Given the description of an element on the screen output the (x, y) to click on. 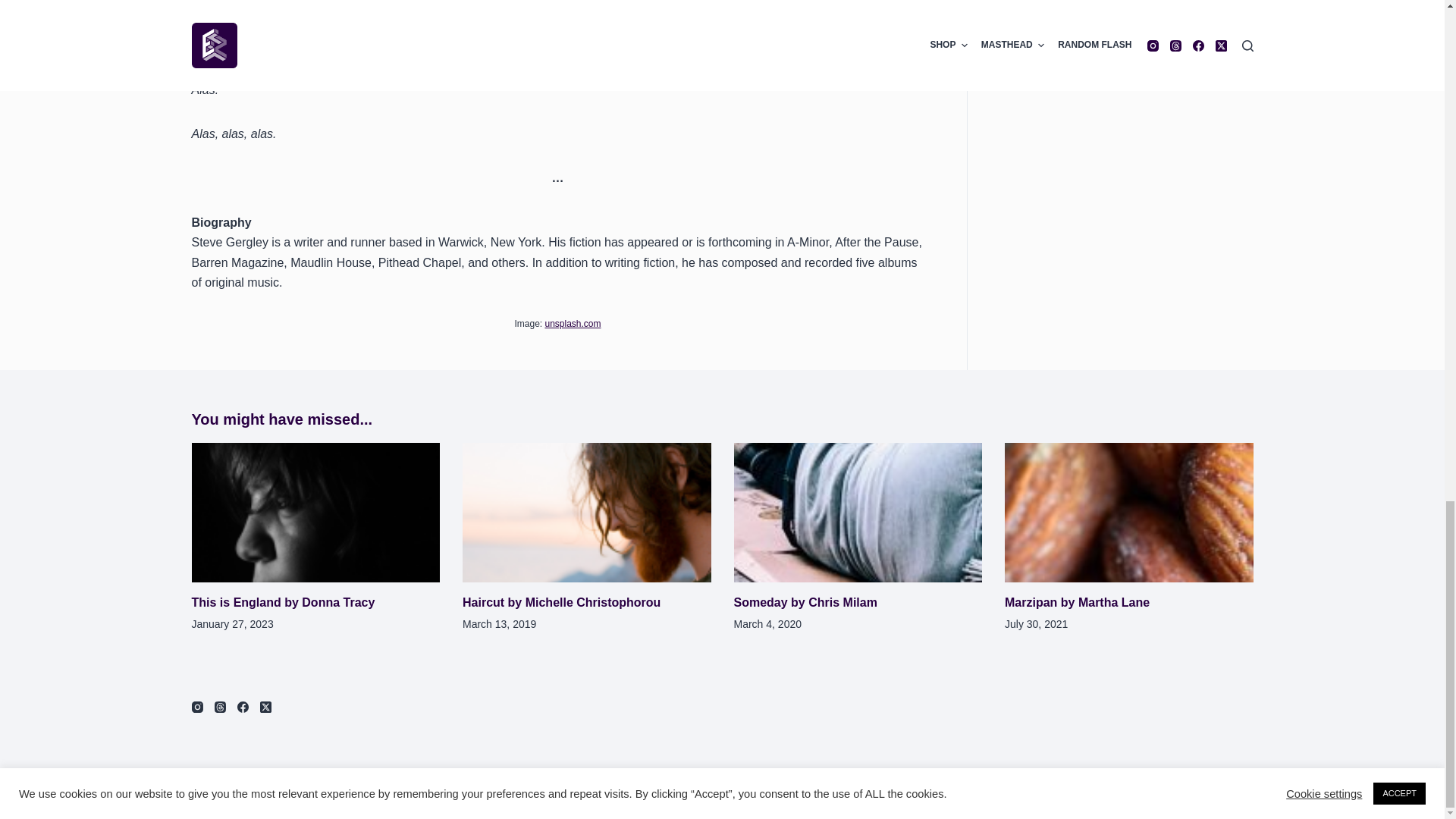
Advertisement (1122, 43)
